Given the description of an element on the screen output the (x, y) to click on. 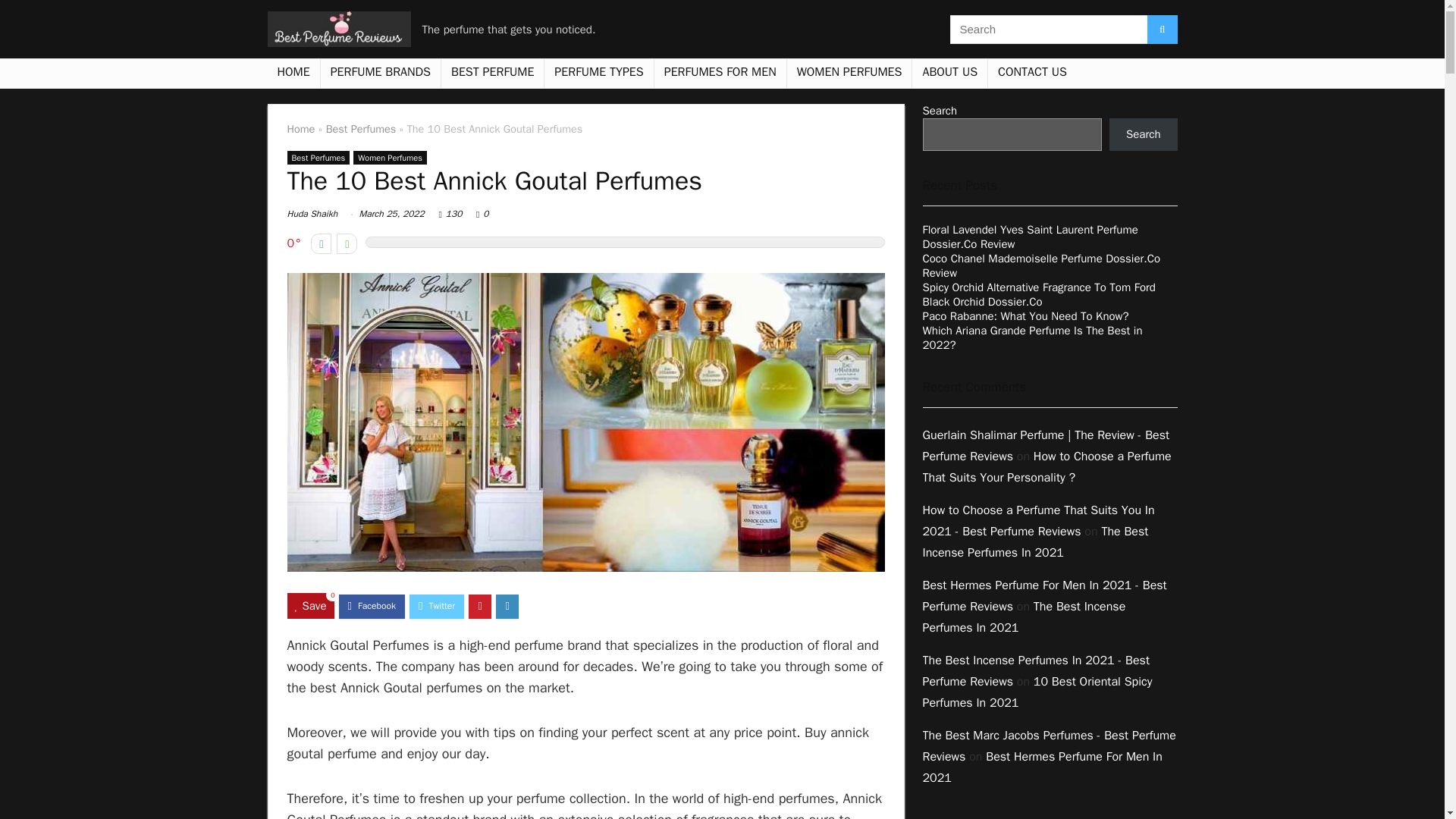
Best Perfumes (361, 128)
Home (300, 128)
Vote up (346, 243)
View all posts in Women Perfumes (389, 157)
Women Perfumes (389, 157)
PERFUME BRANDS (380, 72)
PERFUMES FOR MEN (719, 72)
View all posts in Best Perfumes (317, 157)
BEST PERFUME (492, 72)
Huda Shaikh (311, 214)
PERFUME TYPES (598, 72)
Vote down (321, 243)
HOME (292, 72)
Best Perfumes (317, 157)
